Given the description of an element on the screen output the (x, y) to click on. 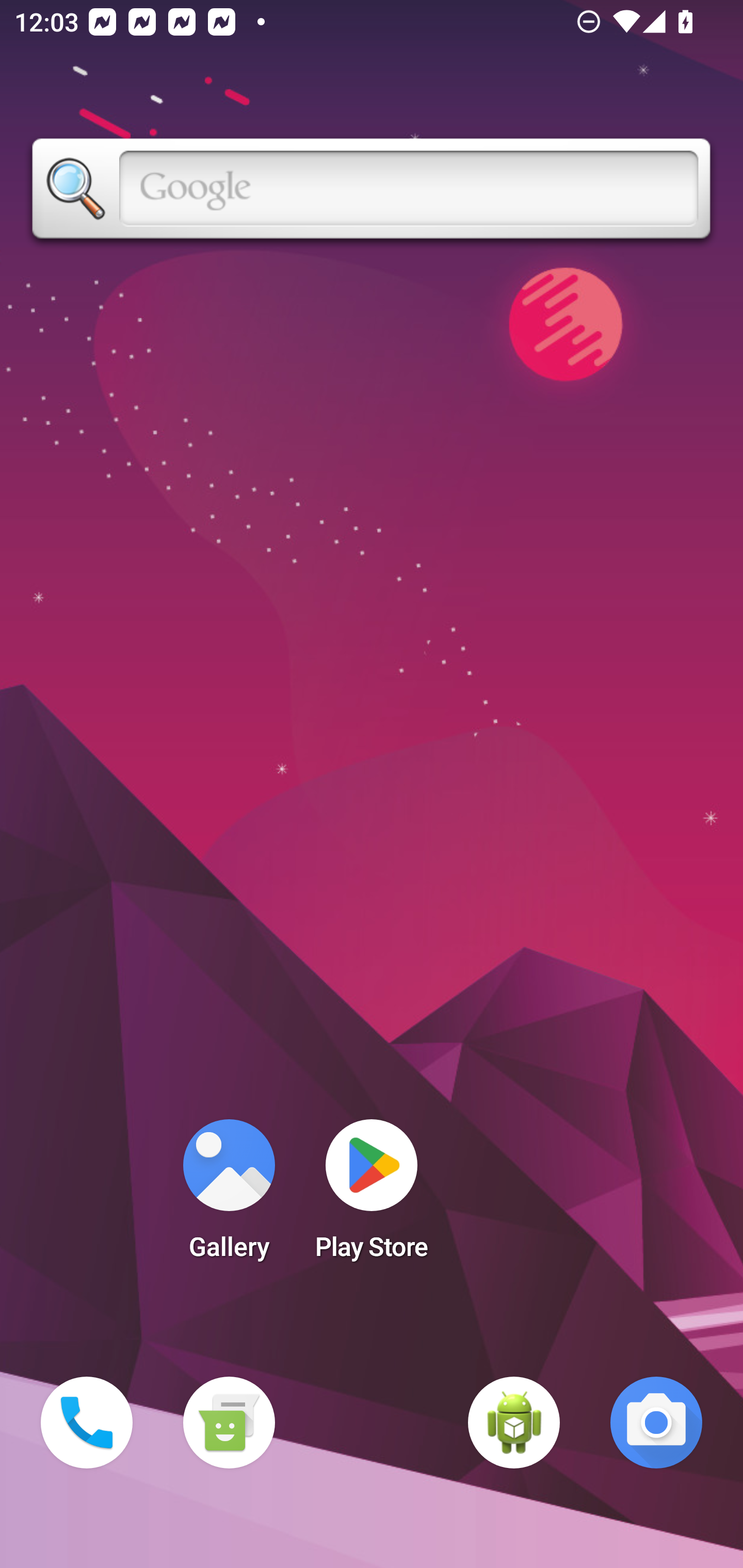
Gallery (228, 1195)
Play Store (371, 1195)
Phone (86, 1422)
Messaging (228, 1422)
WebView Browser Tester (513, 1422)
Camera (656, 1422)
